Given the description of an element on the screen output the (x, y) to click on. 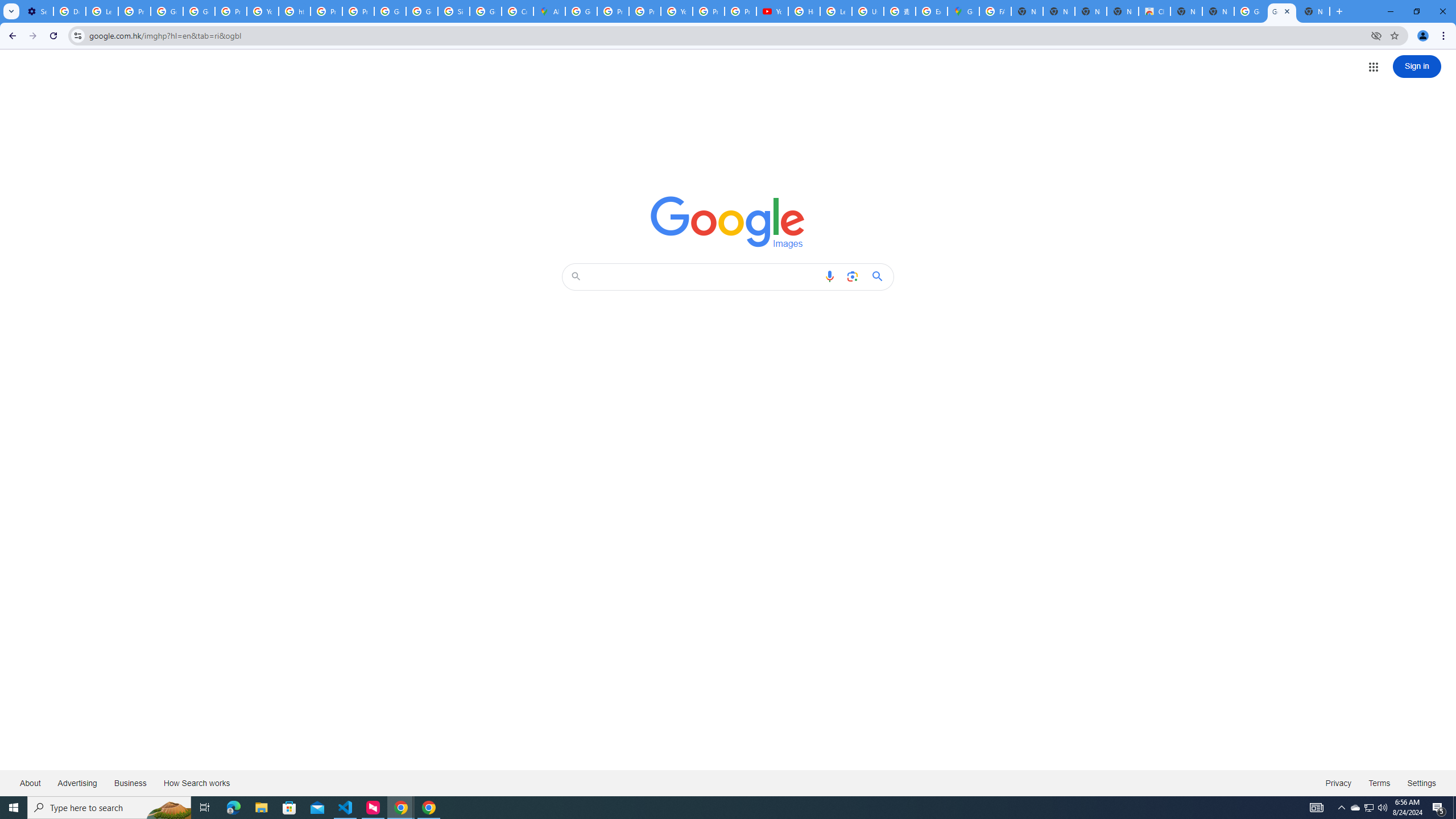
Privacy Help Center - Policies Help (326, 11)
Business (129, 782)
Advertising (77, 782)
How Search works (196, 782)
